Given the description of an element on the screen output the (x, y) to click on. 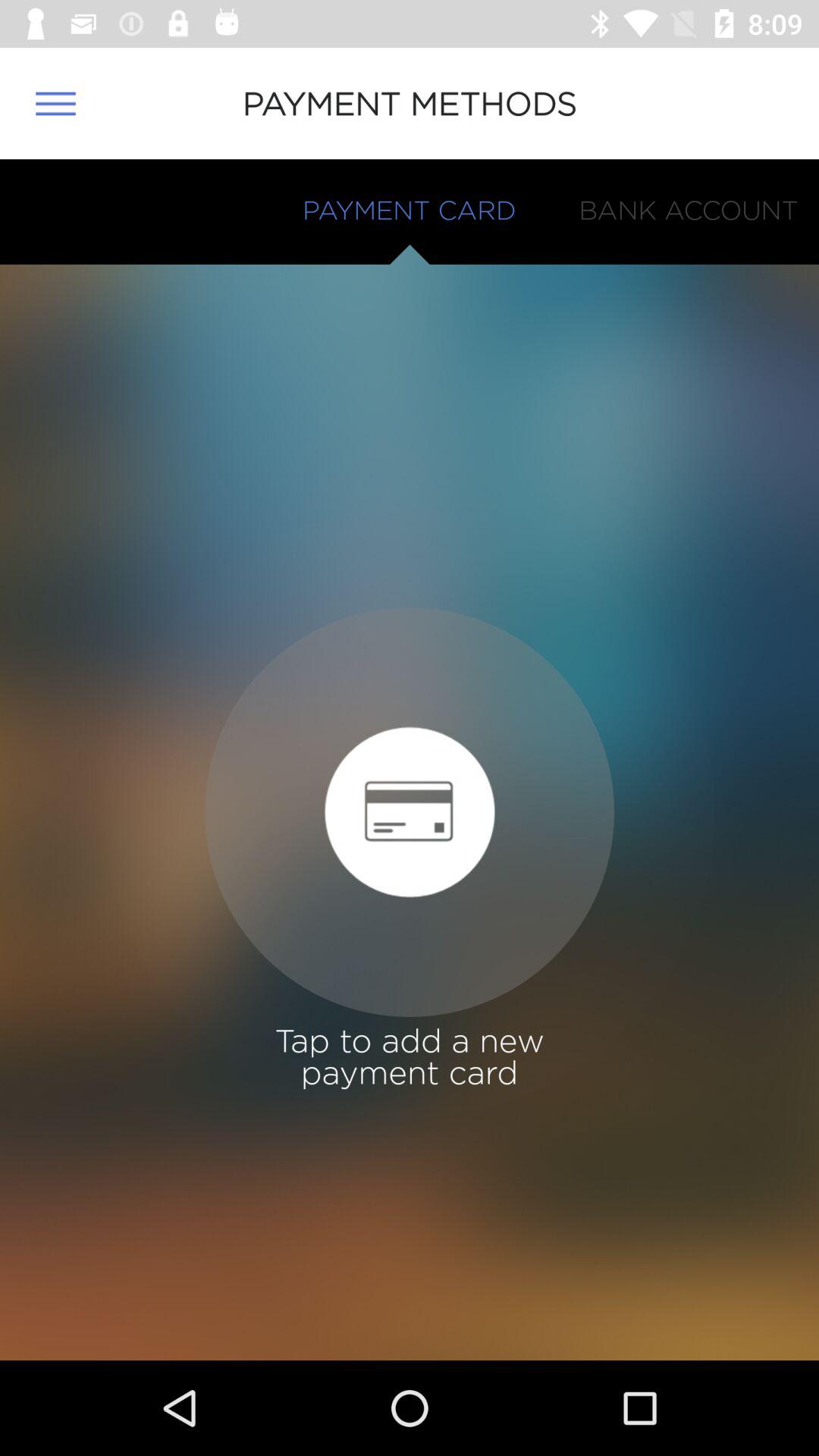
select icon next to payment methods (55, 103)
